Given the description of an element on the screen output the (x, y) to click on. 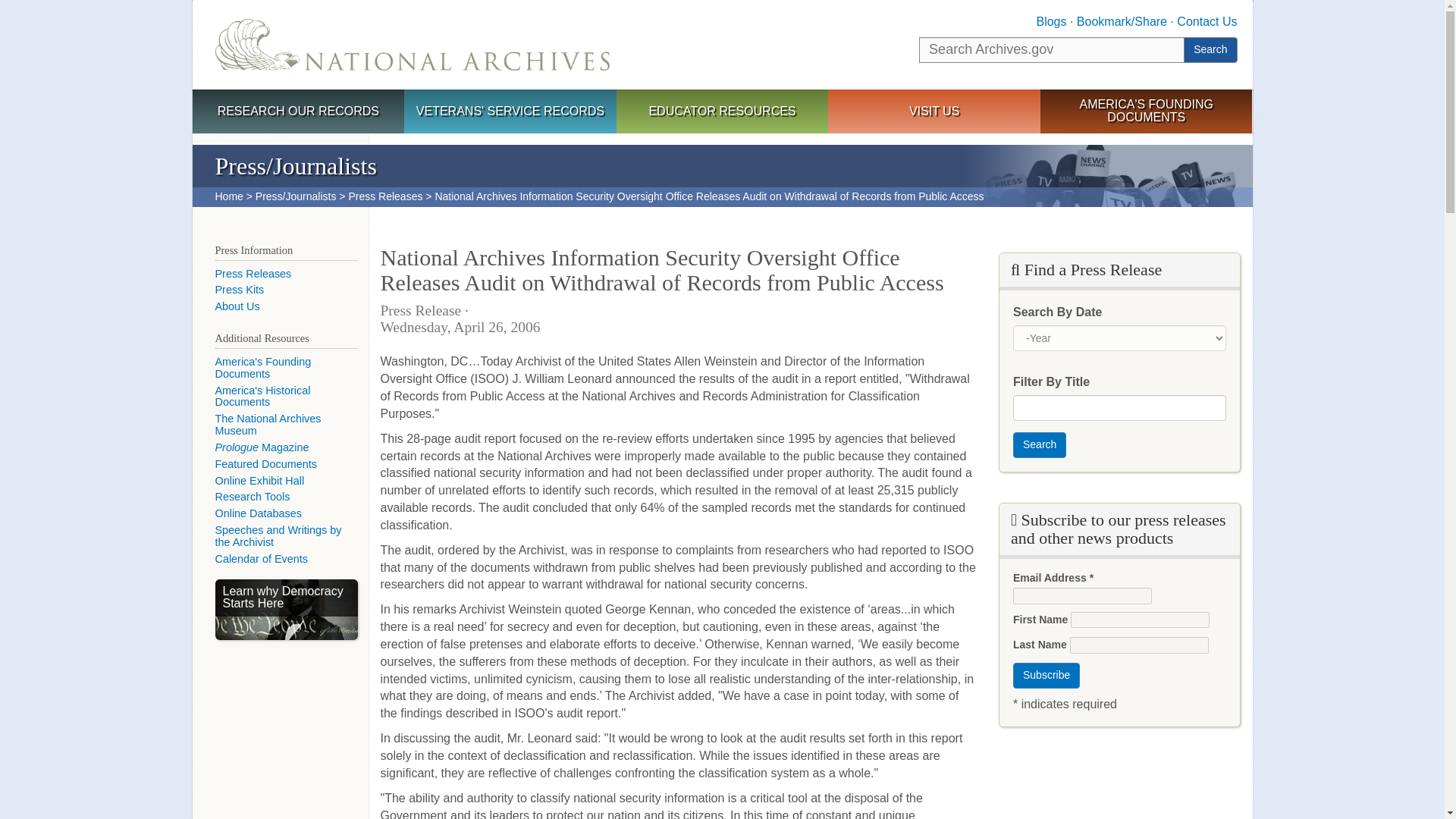
Research Tools (252, 496)
Subscribe (1046, 675)
VISIT US (934, 111)
Online Databases (258, 512)
The National Archives Museum (268, 424)
AMERICA'S FOUNDING DOCUMENTS (1146, 111)
Subscribe (1046, 675)
